Given the description of an element on the screen output the (x, y) to click on. 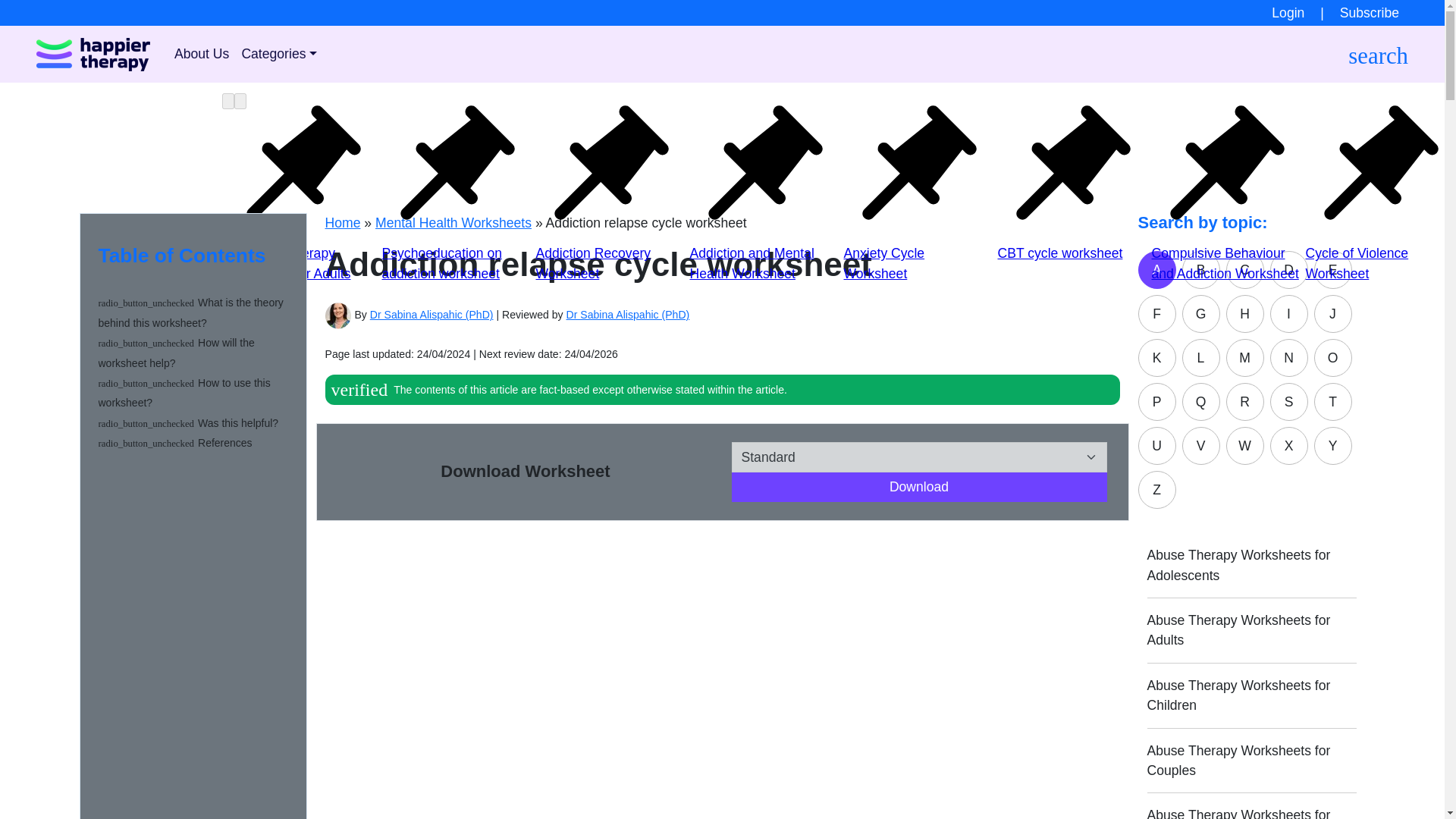
Categories (278, 53)
Subscribe (1387, 12)
Login (1287, 12)
Search (895, 84)
About Us (201, 53)
search (1377, 53)
